Given the description of an element on the screen output the (x, y) to click on. 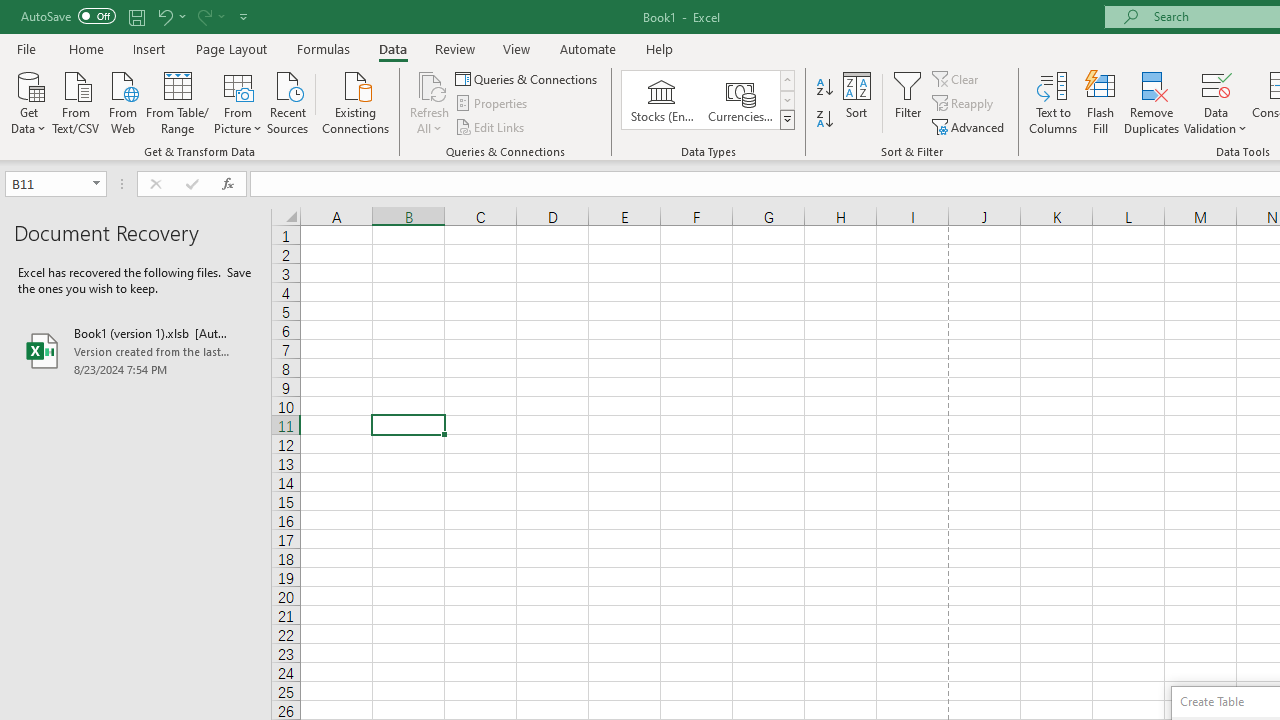
Stocks (English) (662, 100)
Recent Sources (287, 101)
Flash Fill (1101, 102)
Sort A to Z (824, 87)
